Given the description of an element on the screen output the (x, y) to click on. 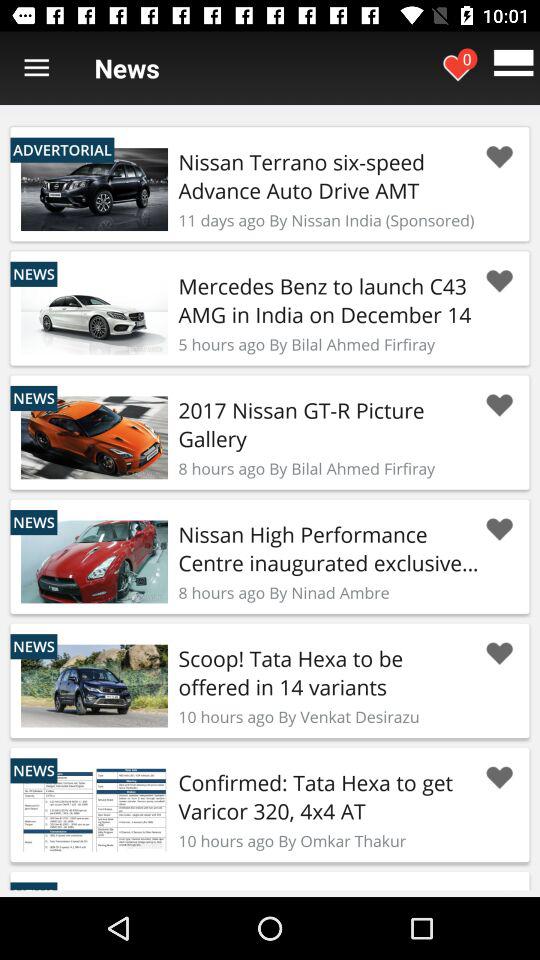
favorite (499, 777)
